Given the description of an element on the screen output the (x, y) to click on. 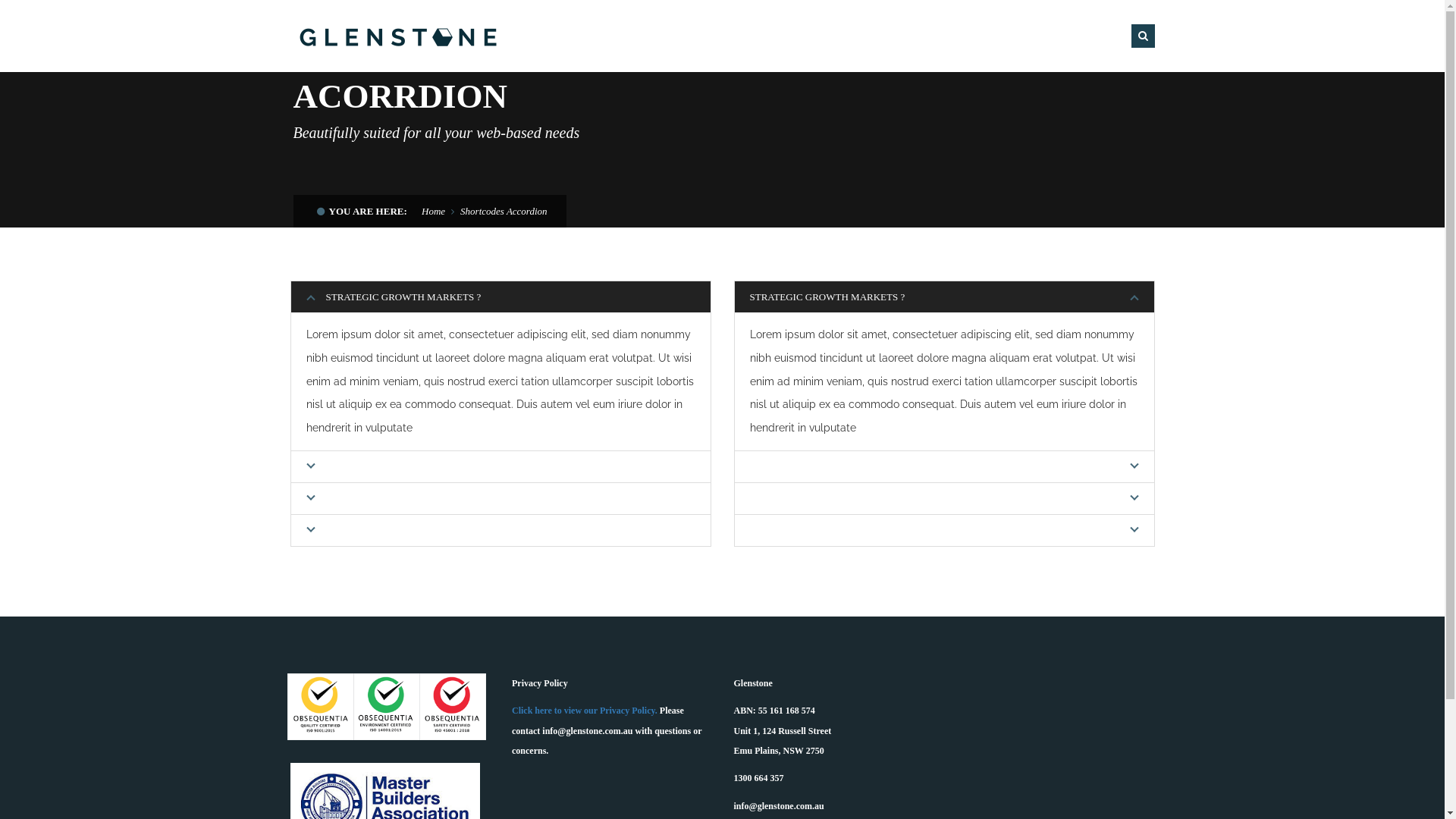
TAX SERVICES ? Element type: text (500, 530)
ASSURANCE ? Element type: text (500, 466)
STRATEGIC GROWTH MARKETS ? Element type: text (500, 296)
Home Element type: text (433, 210)
Glenstone - Sydney & Blue Mountains Builder Element type: hover (398, 34)
INSURANCE SERVICES Element type: text (1053, 36)
TAX SERVICES ? Element type: text (943, 530)
TRANSACTION ADVISORY ? Element type: text (943, 498)
HOME Element type: text (622, 36)
Click here to view our Privacy Policy. Element type: text (584, 710)
RESIDENTIAL CONSTRUCTION Element type: text (734, 36)
COMMERCIAL CONSTRUCTION Element type: text (903, 36)
STRATEGIC GROWTH MARKETS ? Element type: text (943, 296)
TRANSACTION ADVISORY ? Element type: text (500, 498)
ASSURANCE ? Element type: text (943, 466)
